Given the description of an element on the screen output the (x, y) to click on. 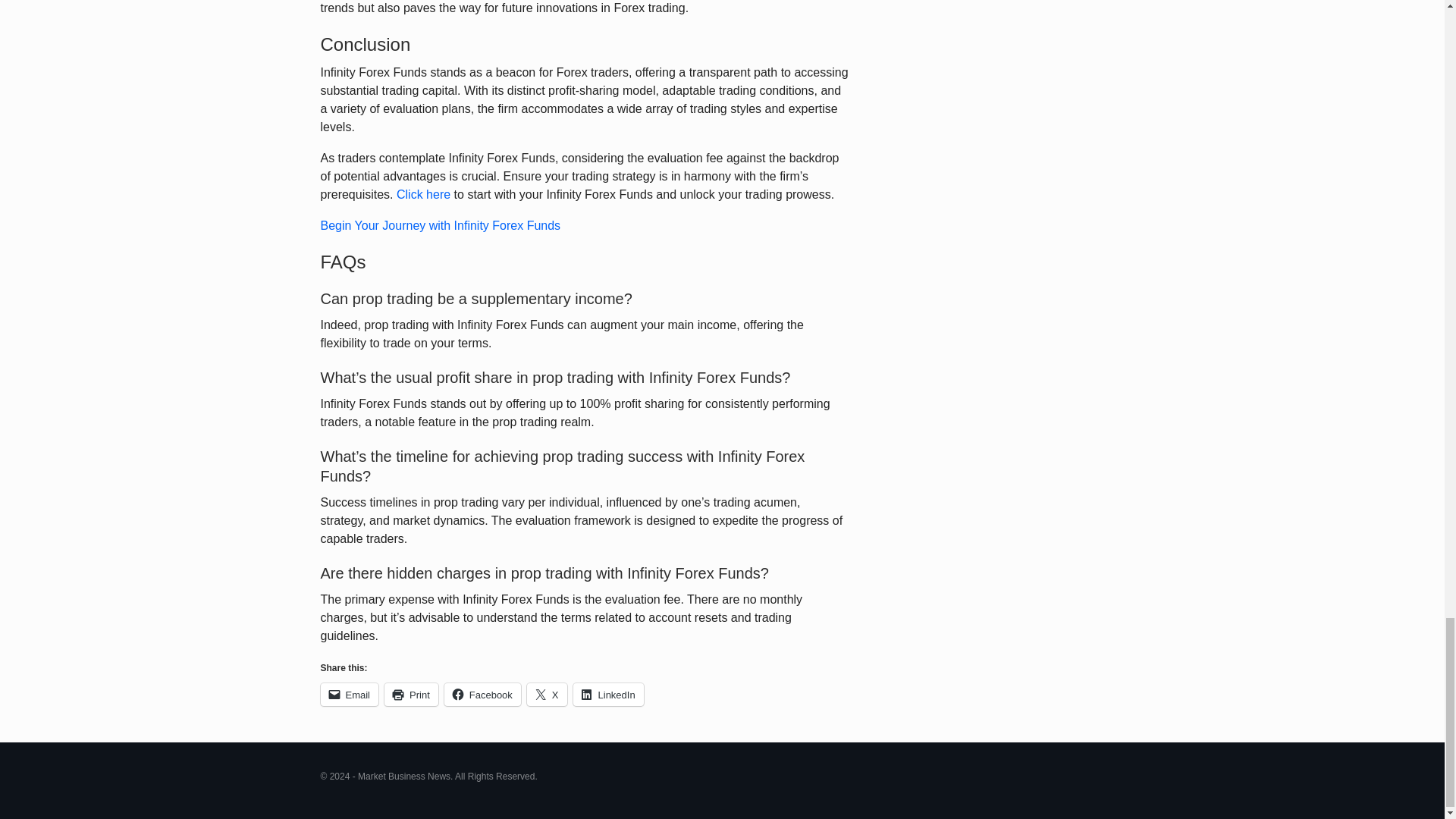
Click to email a link to a friend (349, 694)
Click to print (411, 694)
Print (411, 694)
Begin Your Journey with Infinity Forex Funds (440, 225)
Click to share on X (547, 694)
Email (349, 694)
X (547, 694)
Facebook (482, 694)
LinkedIn (608, 694)
Click to share on Facebook (482, 694)
